Given the description of an element on the screen output the (x, y) to click on. 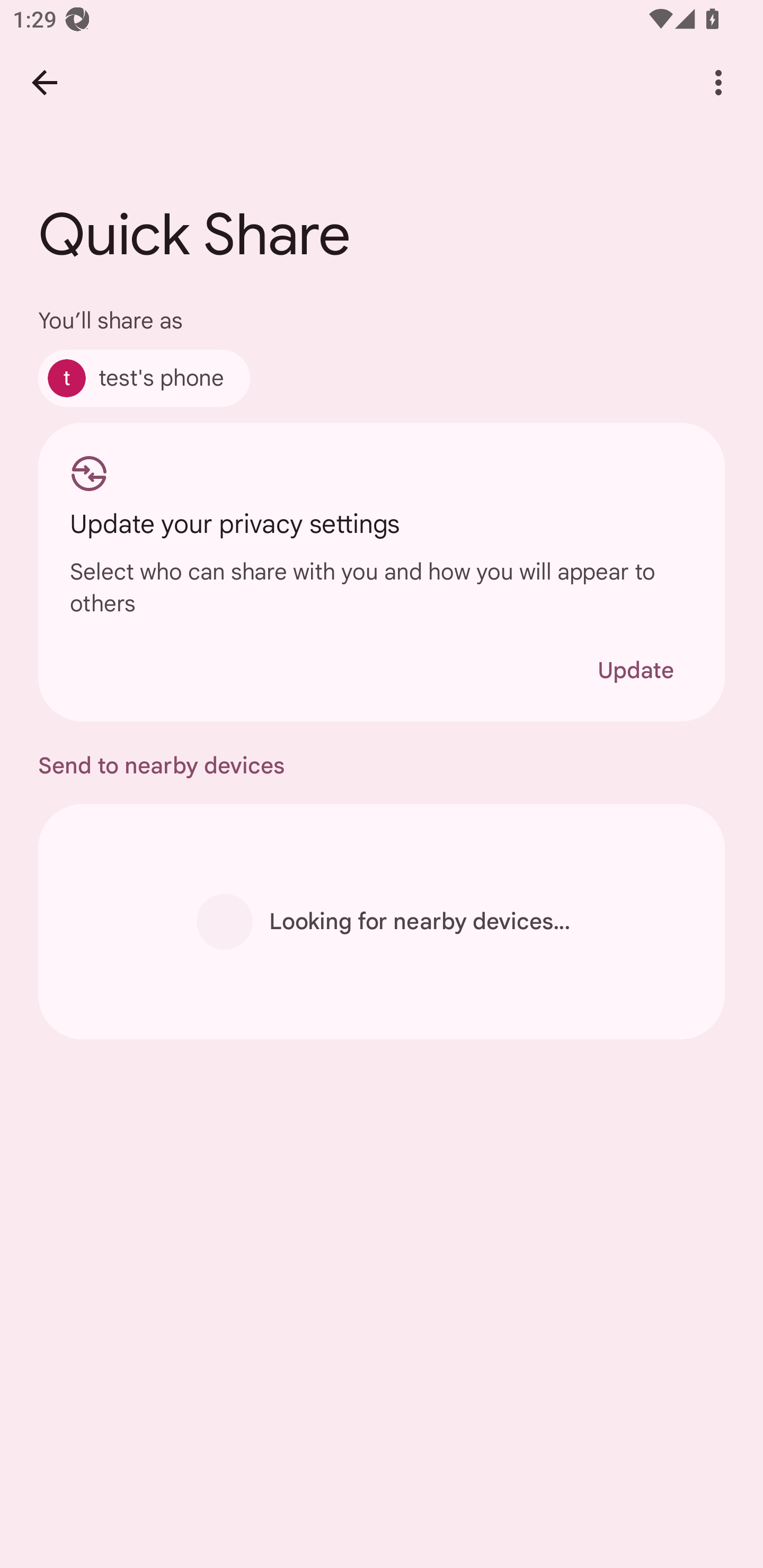
Back (44, 81)
More (718, 81)
test's phone (144, 378)
Update (635, 669)
